Given the description of an element on the screen output the (x, y) to click on. 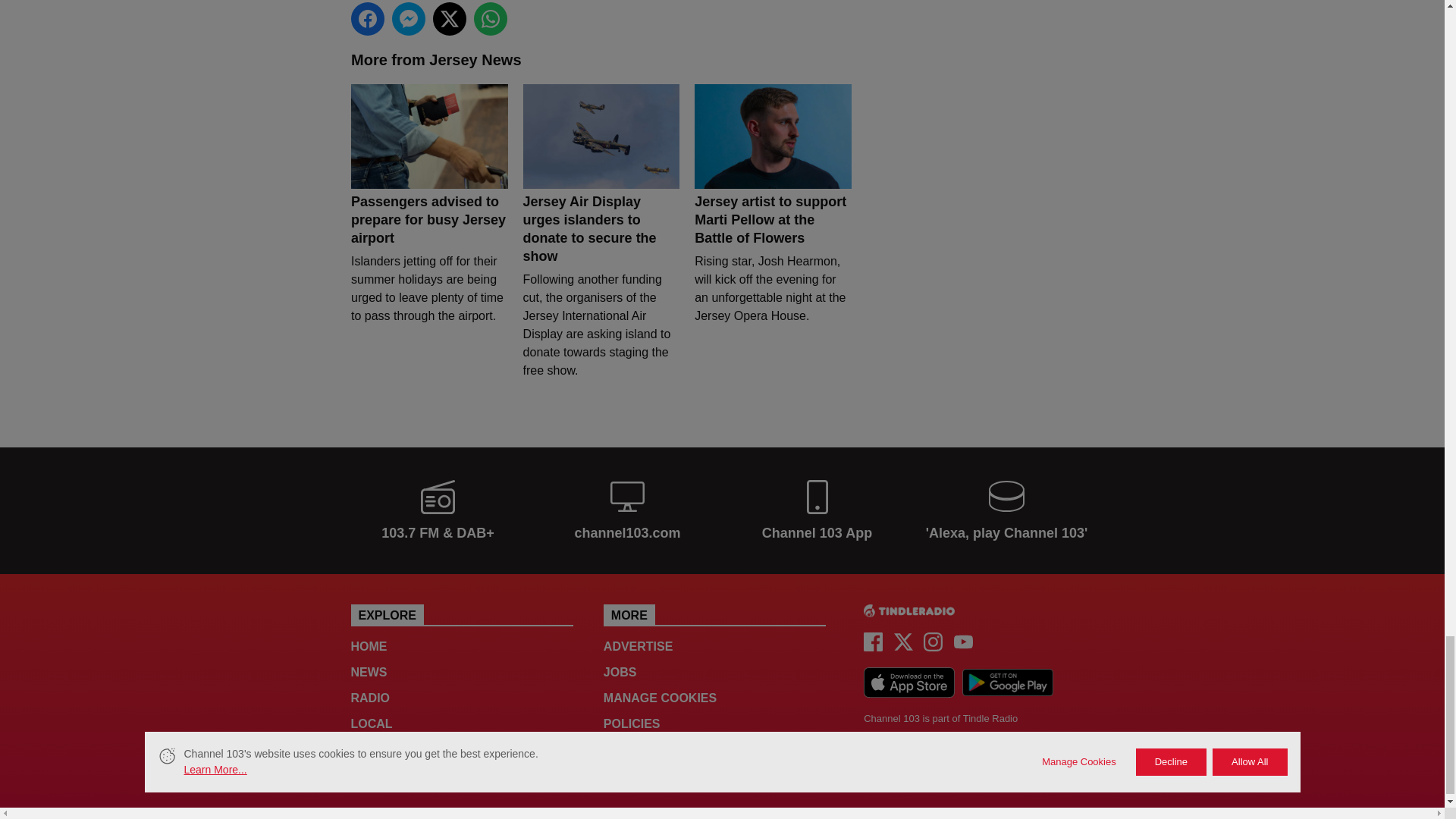
Aiir radio website CMS (882, 751)
